Given the description of an element on the screen output the (x, y) to click on. 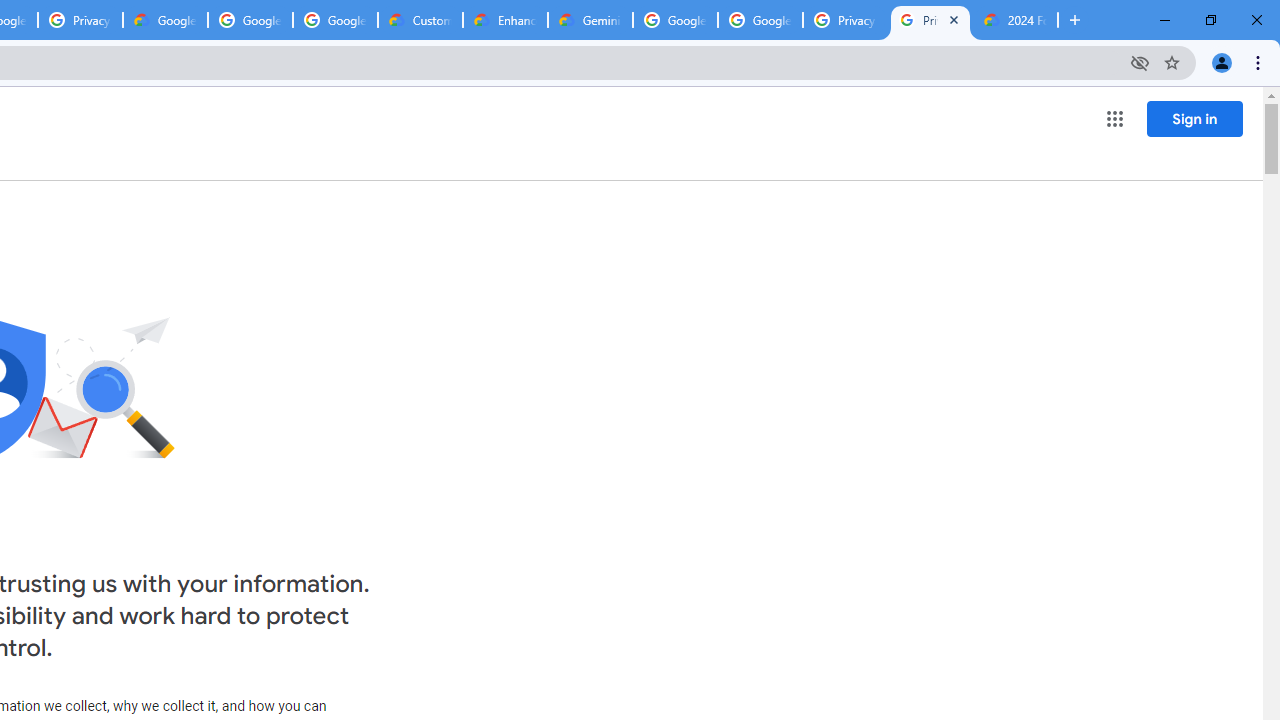
Gemini for Business and Developers | Google Cloud (590, 20)
Google Workspace - Specific Terms (250, 20)
Google Cloud Terms Directory | Google Cloud (165, 20)
Enhanced Support | Google Cloud (505, 20)
Google Cloud Platform (760, 20)
